Given the description of an element on the screen output the (x, y) to click on. 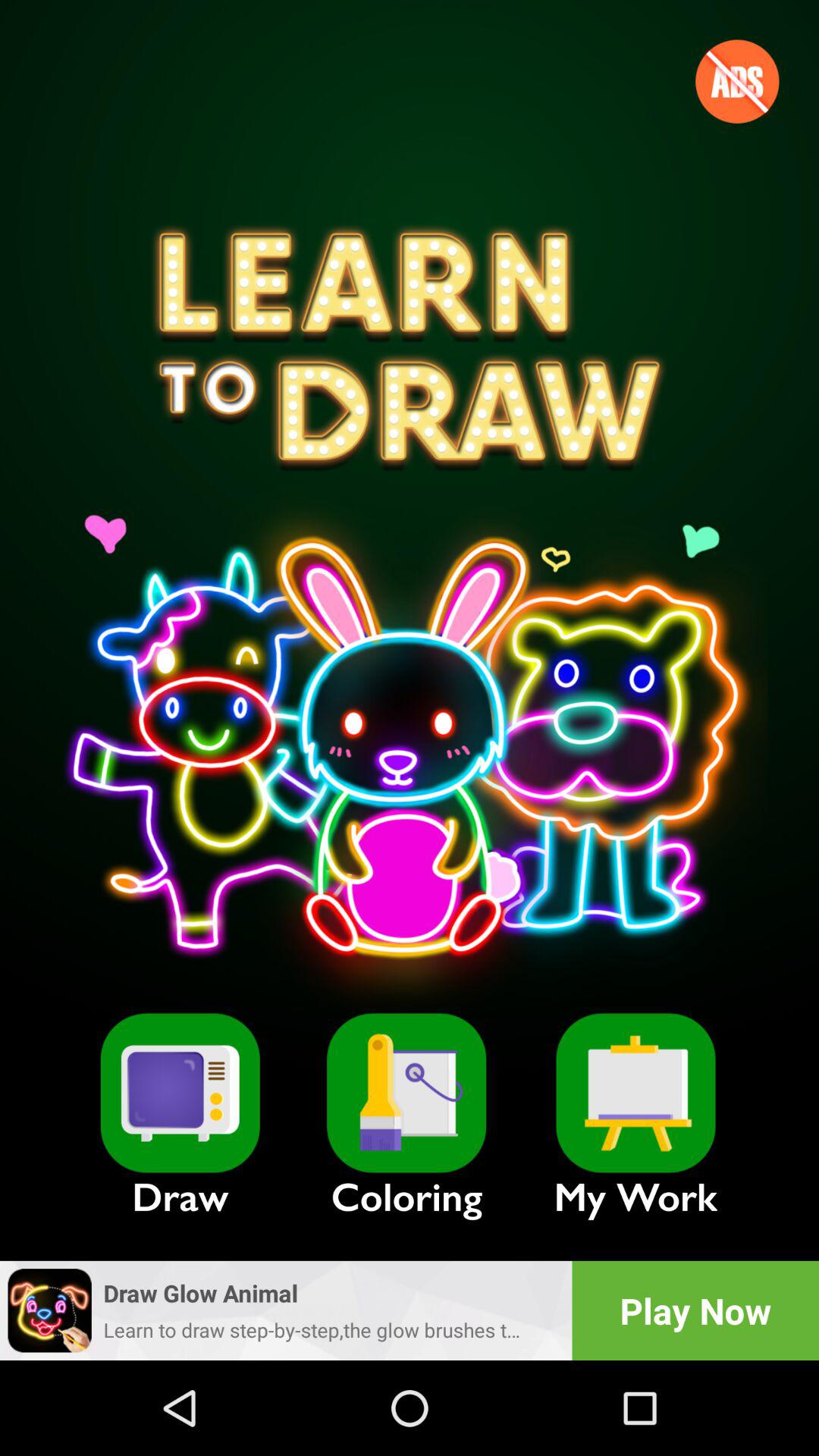
choose the app to the right of the draw glow animal (695, 1310)
